Given the description of an element on the screen output the (x, y) to click on. 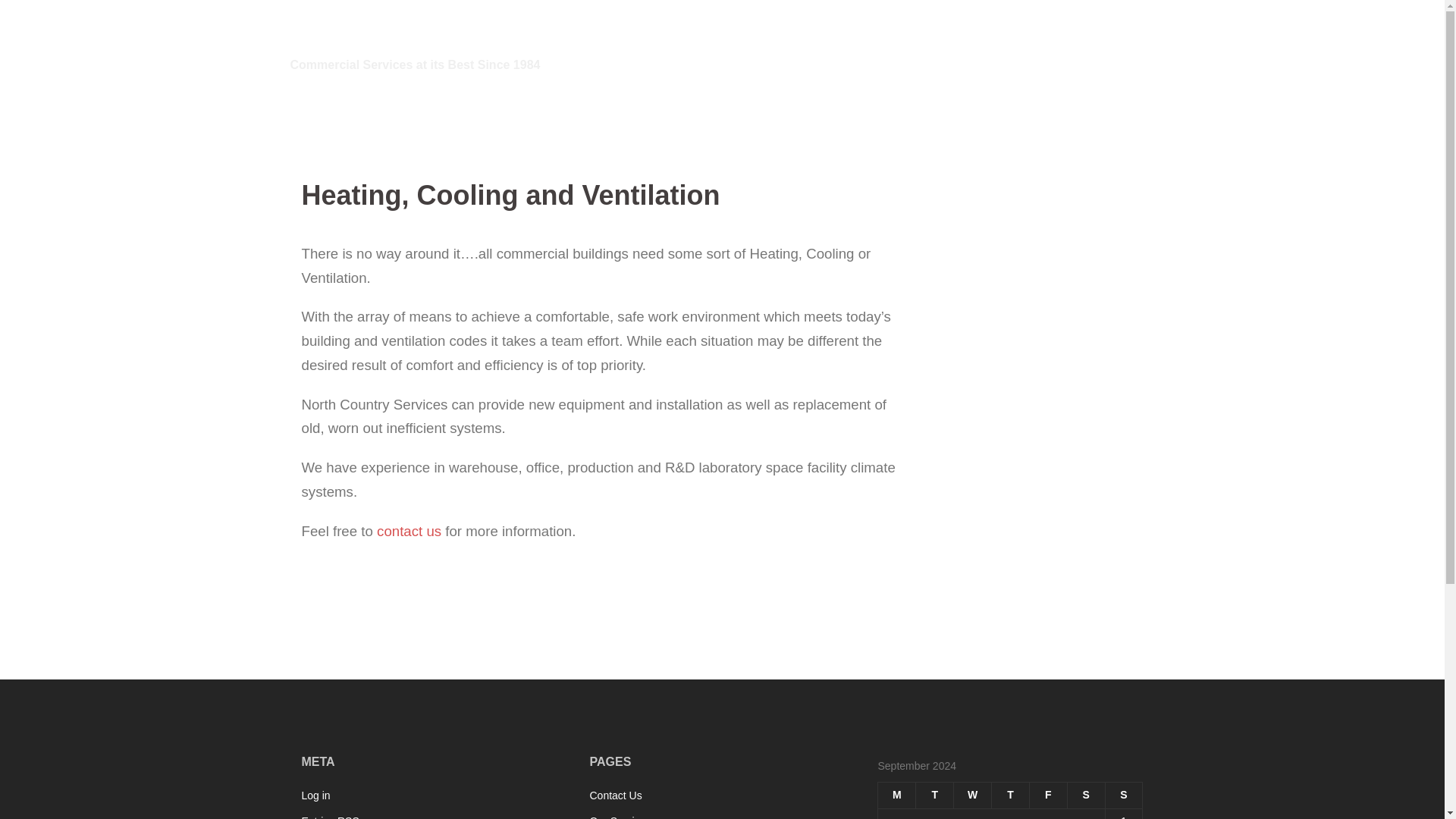
Saturday (1086, 795)
Monday (896, 795)
Tuesday (934, 795)
Home (973, 45)
Sunday (1123, 795)
Our Services (1039, 45)
contact us (409, 530)
Contact Us (615, 795)
Contact Us (1116, 45)
Really Simple Syndication (348, 816)
